Given the description of an element on the screen output the (x, y) to click on. 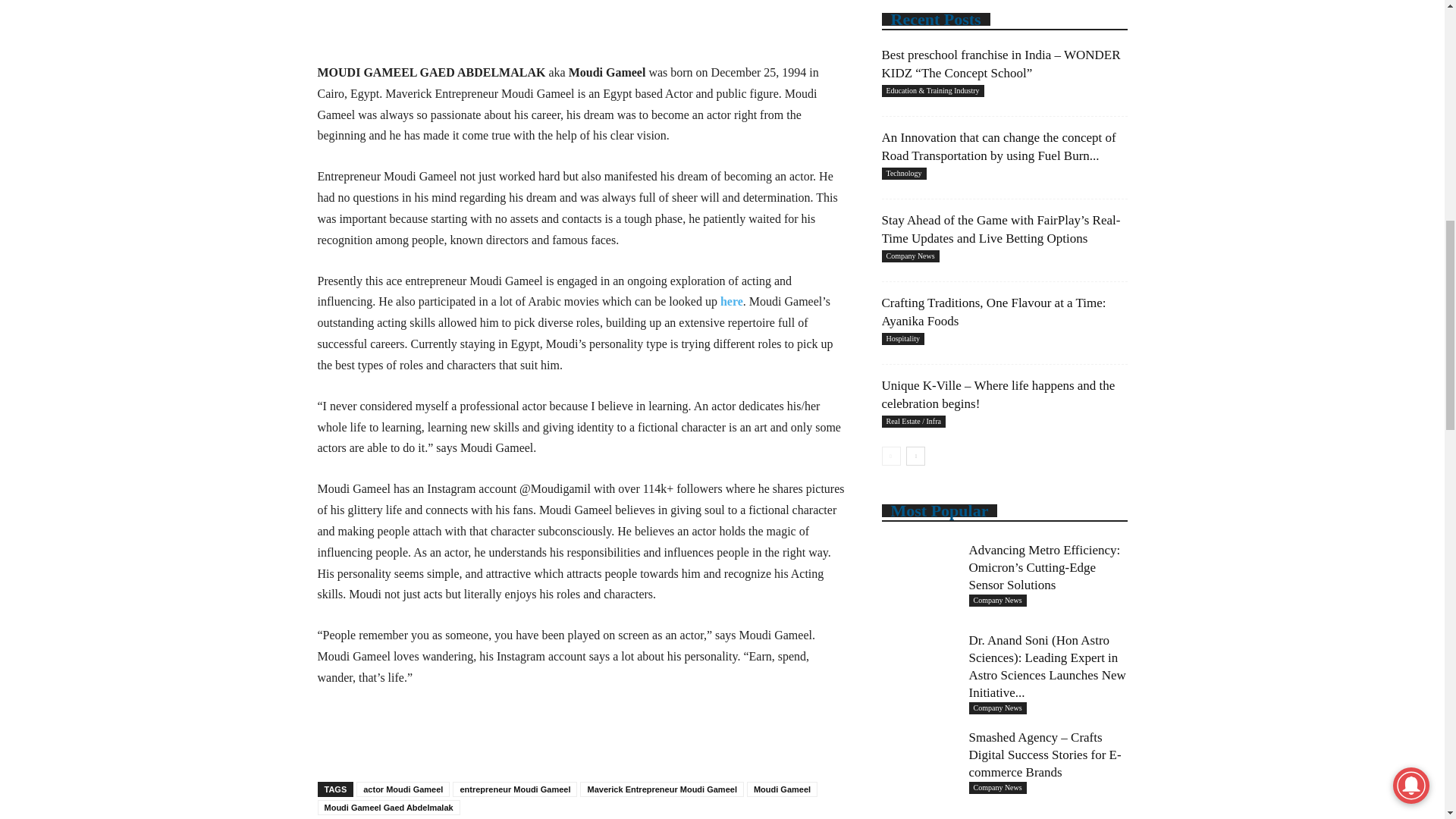
Advertisement (580, 22)
Advertisement (580, 730)
